Given the description of an element on the screen output the (x, y) to click on. 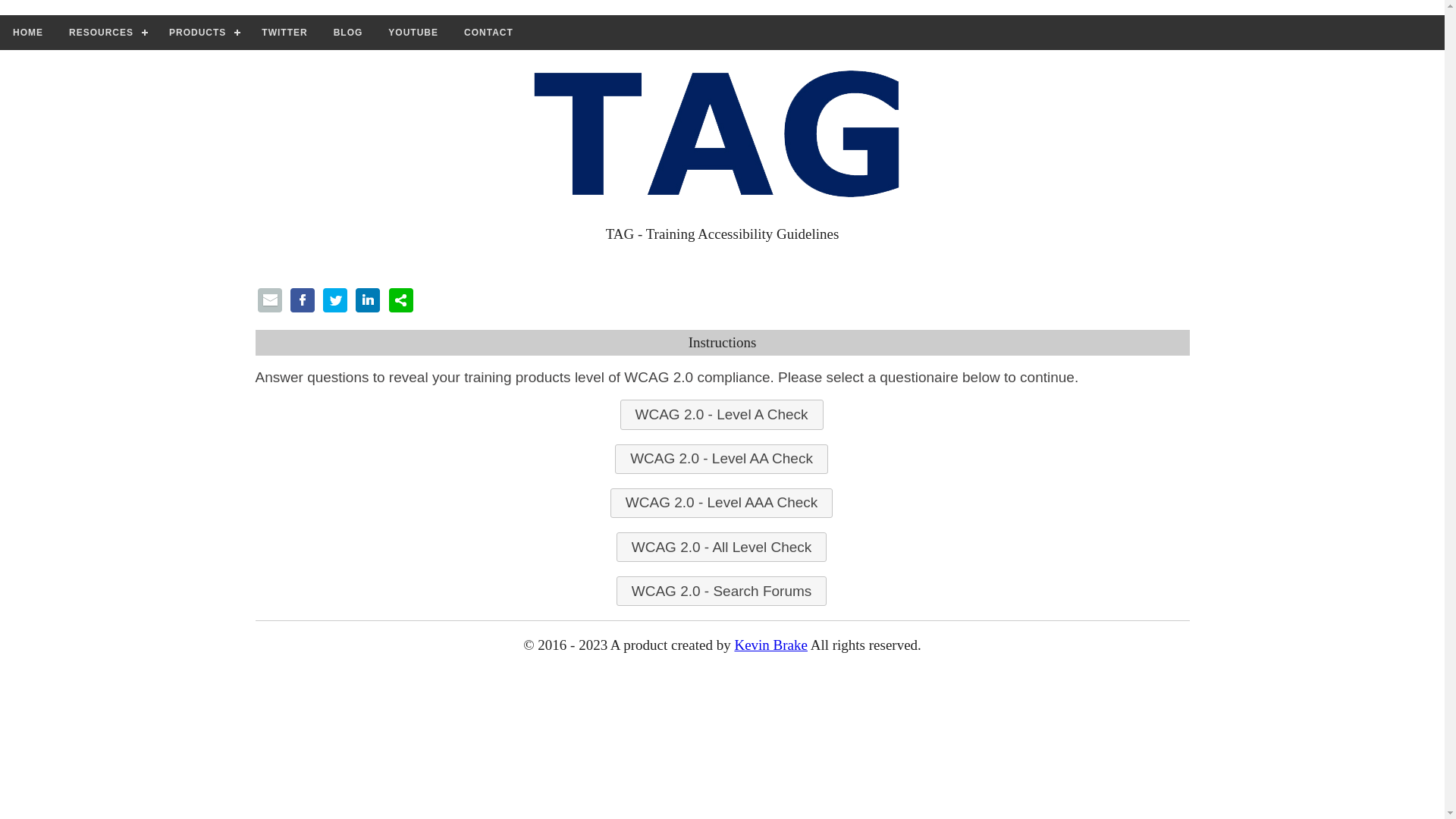
YOUTUBE Element type: text (413, 32)
HOME Element type: text (28, 32)
PRODUCTS Element type: text (202, 32)
BLOG Element type: text (348, 32)
WCAG 2.0 - Level AAA Check Element type: text (721, 502)
WCAG 2.0 - Level AA Check Element type: text (721, 458)
WCAG 2.0 - Level A Check Element type: text (721, 414)
TWITTER Element type: text (284, 32)
CONTACT Element type: text (488, 32)
WCAG 2.0 - Search Forums Element type: text (721, 590)
WCAG 2.0 - All Level Check Element type: text (721, 546)
Kevin Brake Element type: text (770, 644)
RESOURCES Element type: text (106, 32)
